Given the description of an element on the screen output the (x, y) to click on. 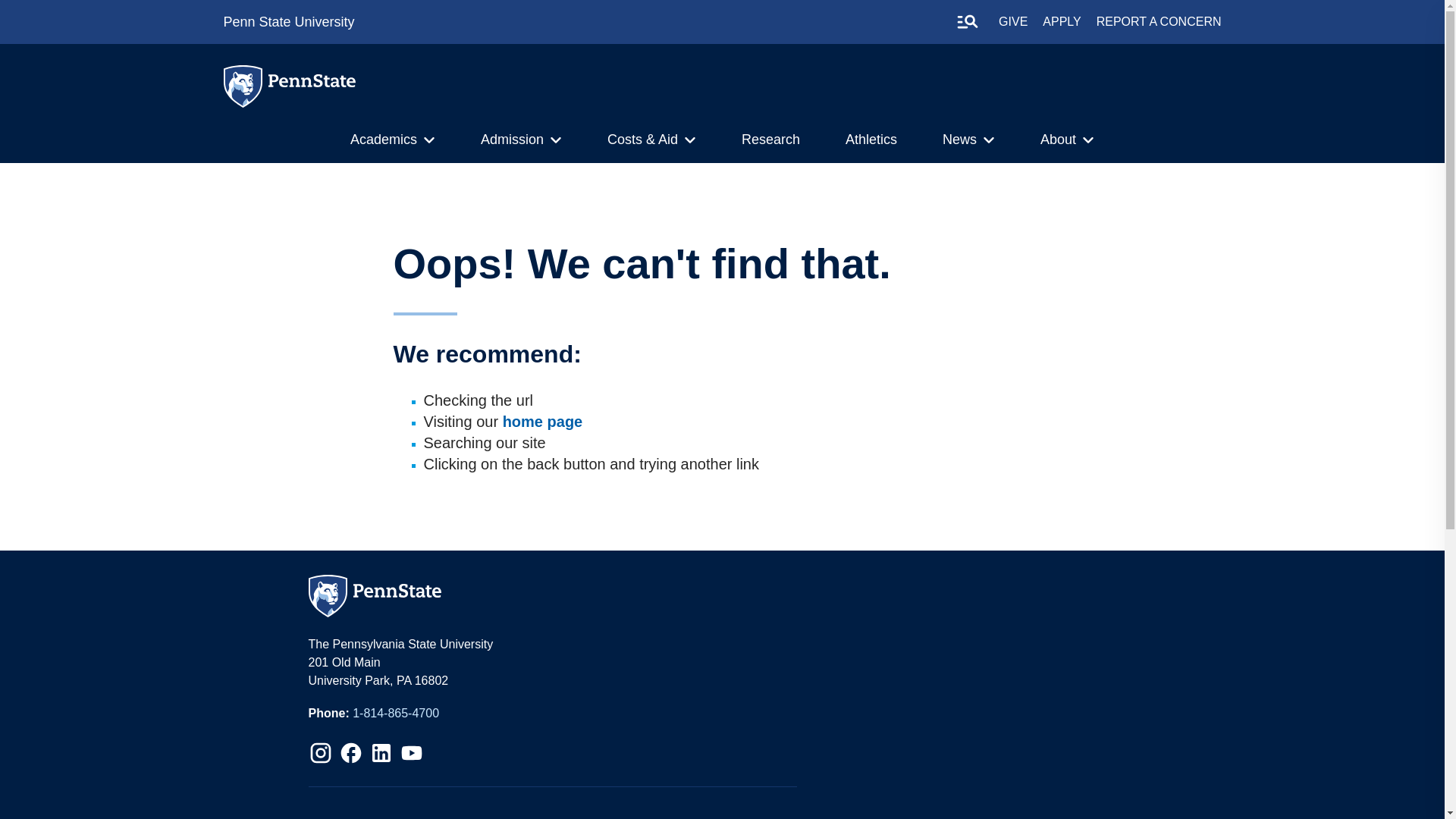
Nittany Lion Shield Penn State Mark (244, 87)
Academics (383, 139)
Admission (511, 139)
GIVE (1012, 21)
Penn State University (287, 21)
APPLY (1061, 21)
Nittany Lion Shield Penn State Mark (242, 86)
REPORT A CONCERN (1158, 21)
